Given the description of an element on the screen output the (x, y) to click on. 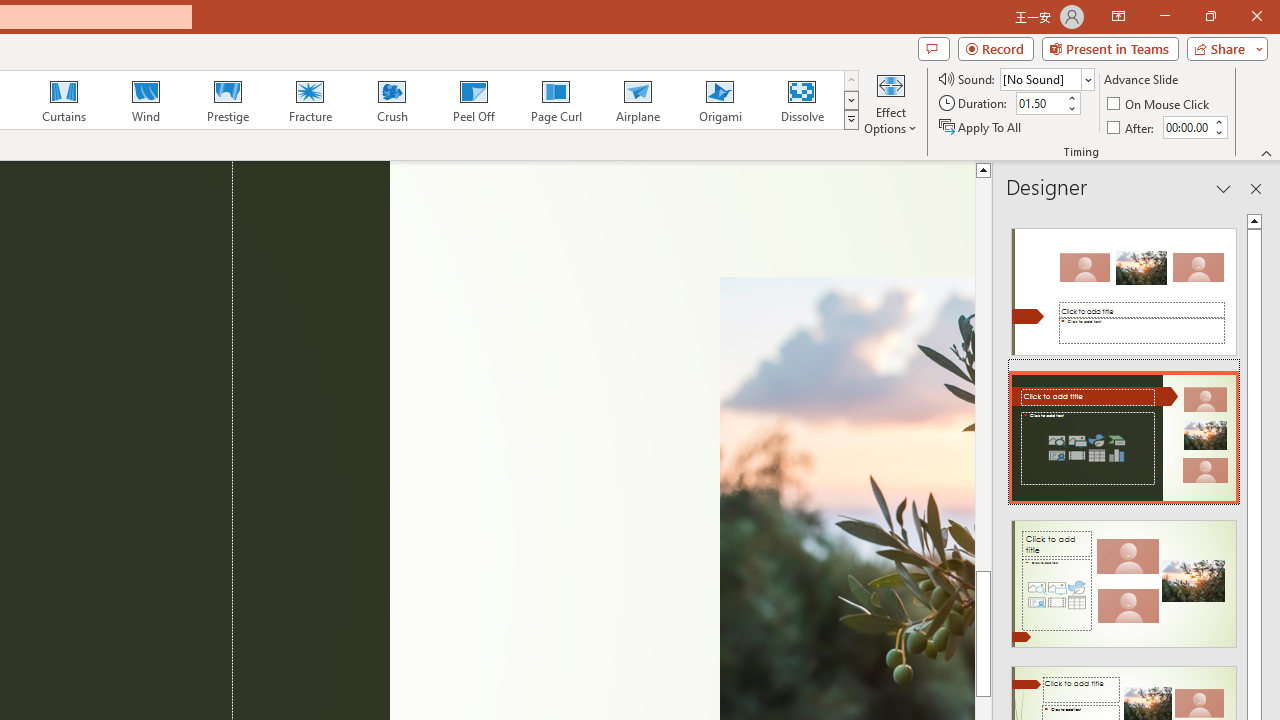
Curtains (63, 100)
After (1186, 127)
Sound (1046, 78)
Line up (983, 169)
Duration (1039, 103)
After (1131, 126)
Task Pane Options (1224, 188)
Fracture (309, 100)
Transition Effects (850, 120)
Origami (719, 100)
Page Curl (555, 100)
